Given the description of an element on the screen output the (x, y) to click on. 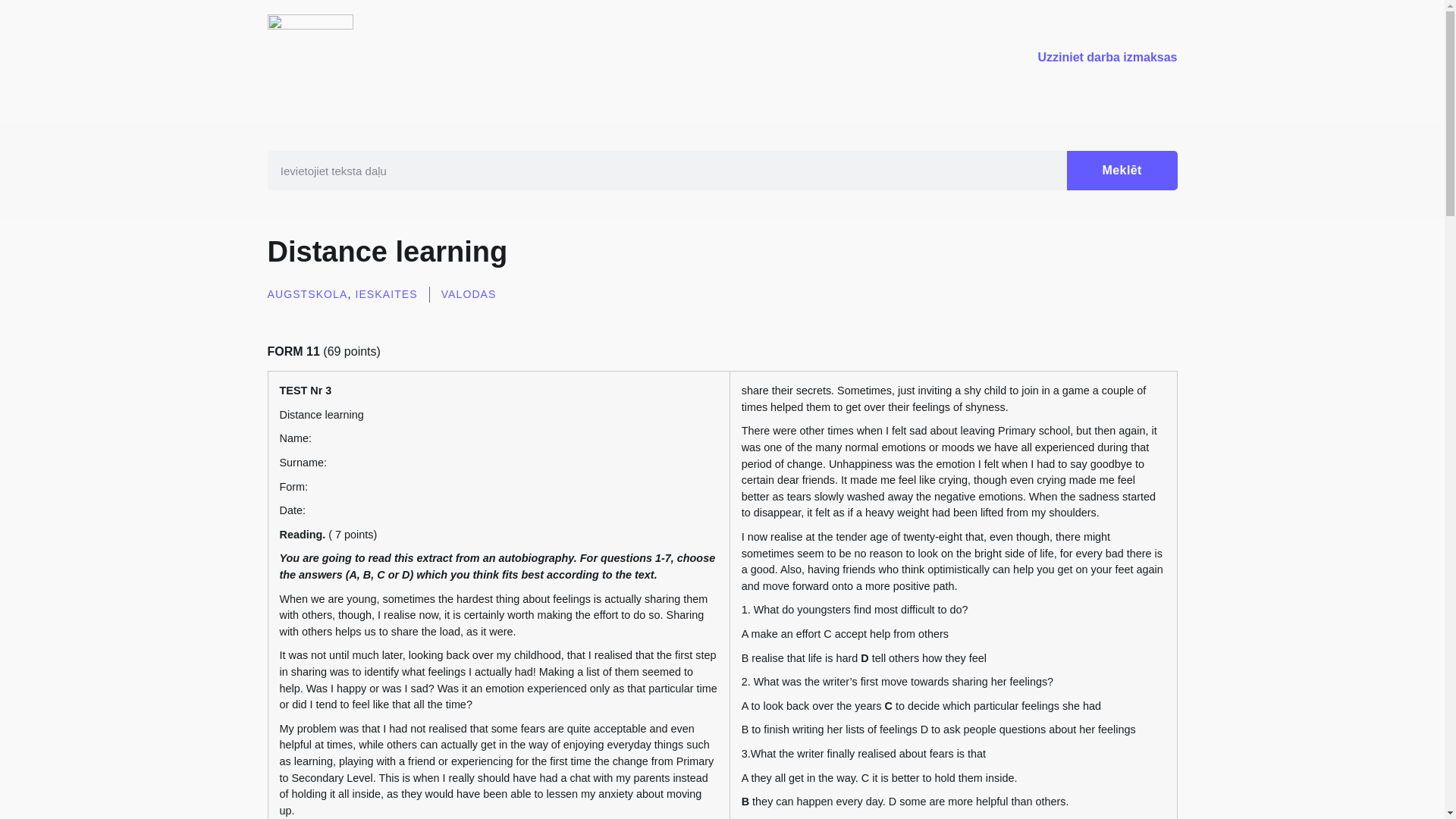
IESKAITES (385, 294)
VALODAS (468, 294)
Uzziniet darba izmaksas (1106, 57)
AUGSTSKOLA (306, 294)
